Given the description of an element on the screen output the (x, y) to click on. 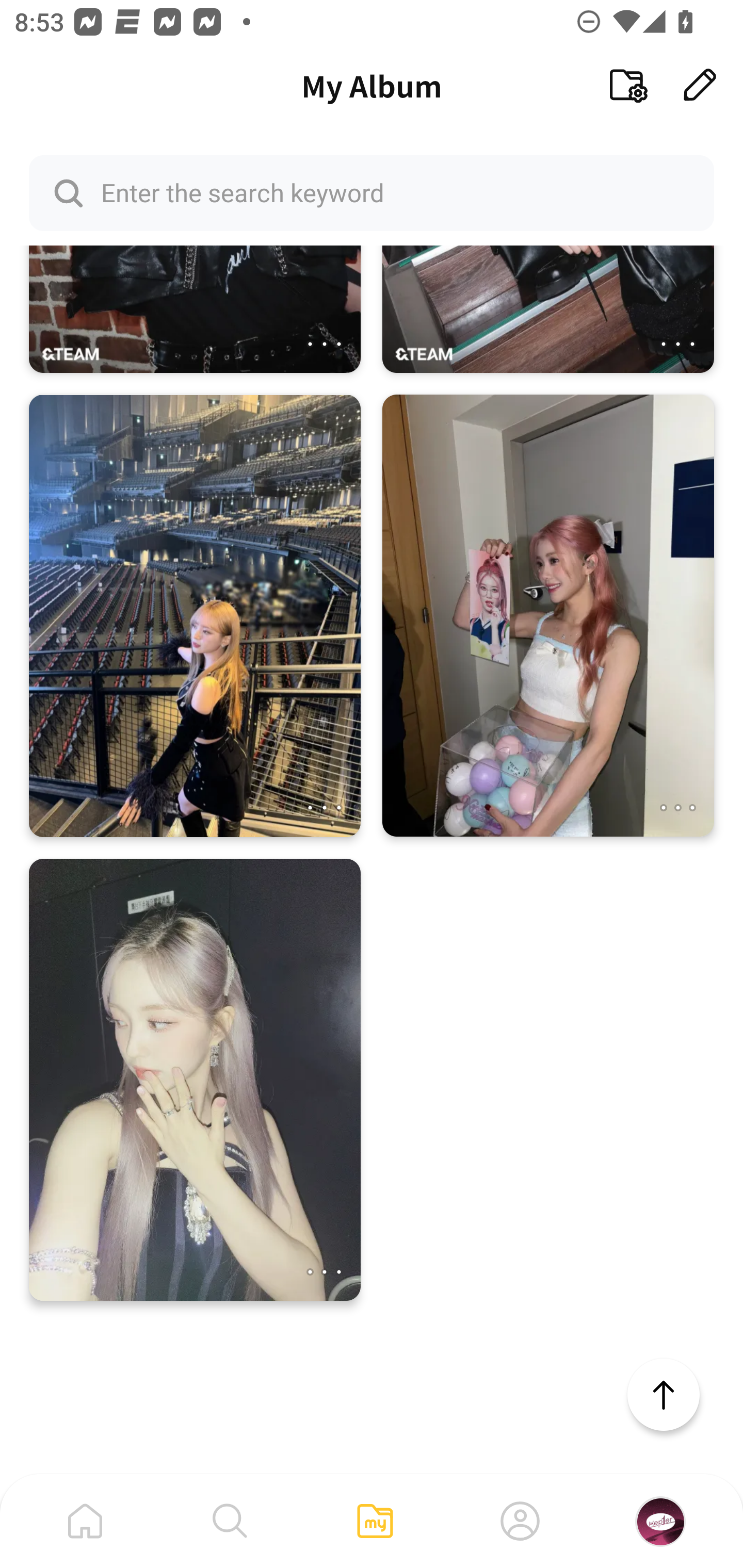
Enter the search keyword (371, 192)
